Given the description of an element on the screen output the (x, y) to click on. 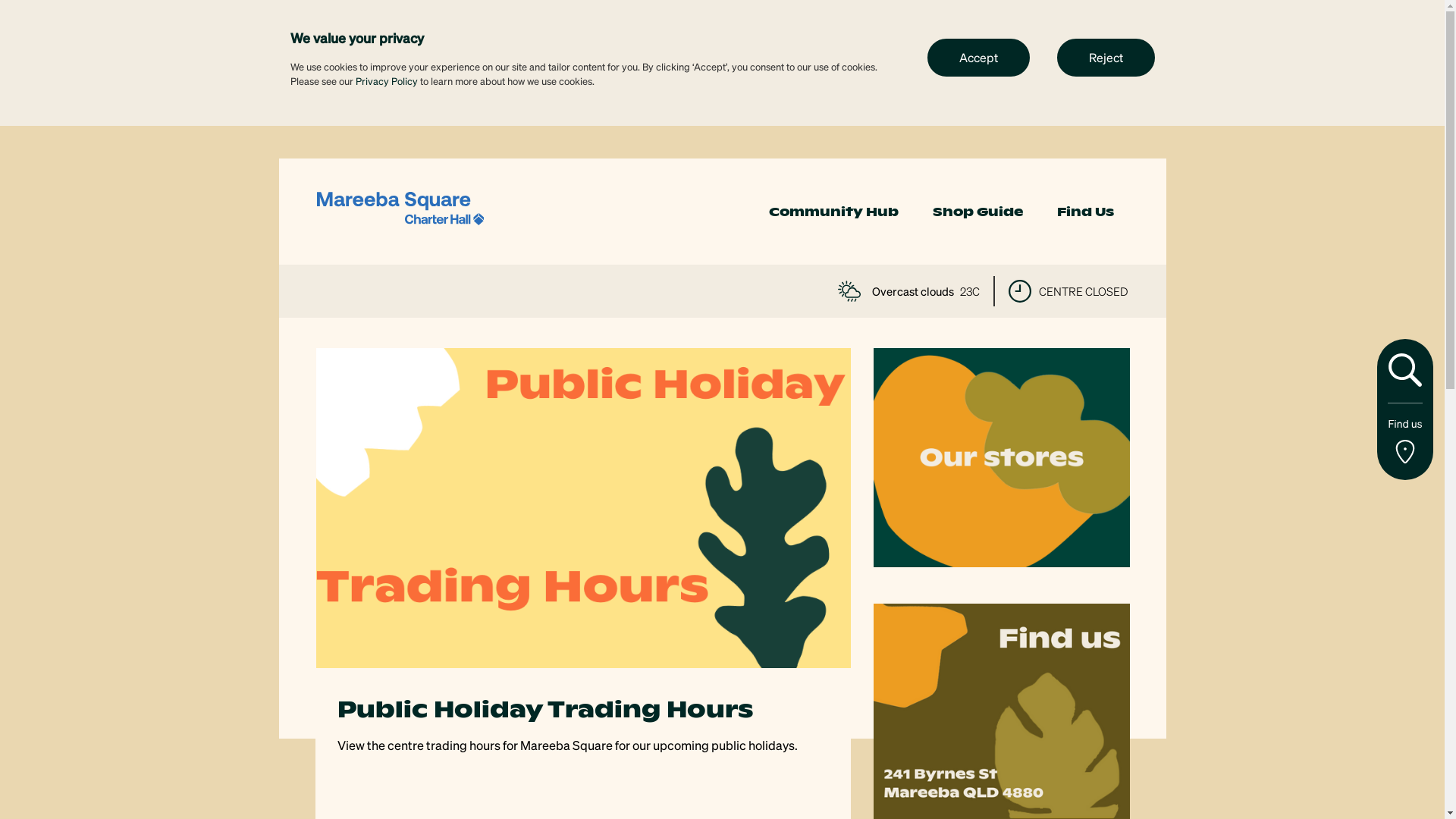
time Element type: hover (1019, 290)
Find Us Element type: text (1085, 211)
Accept Element type: text (977, 56)
Reject Element type: text (1105, 56)
Community Hub Element type: text (833, 211)
CENTRE CLOSED Element type: text (1068, 290)
Shop Guide Element type: text (977, 211)
Privacy Policy Element type: text (385, 80)
